Given the description of an element on the screen output the (x, y) to click on. 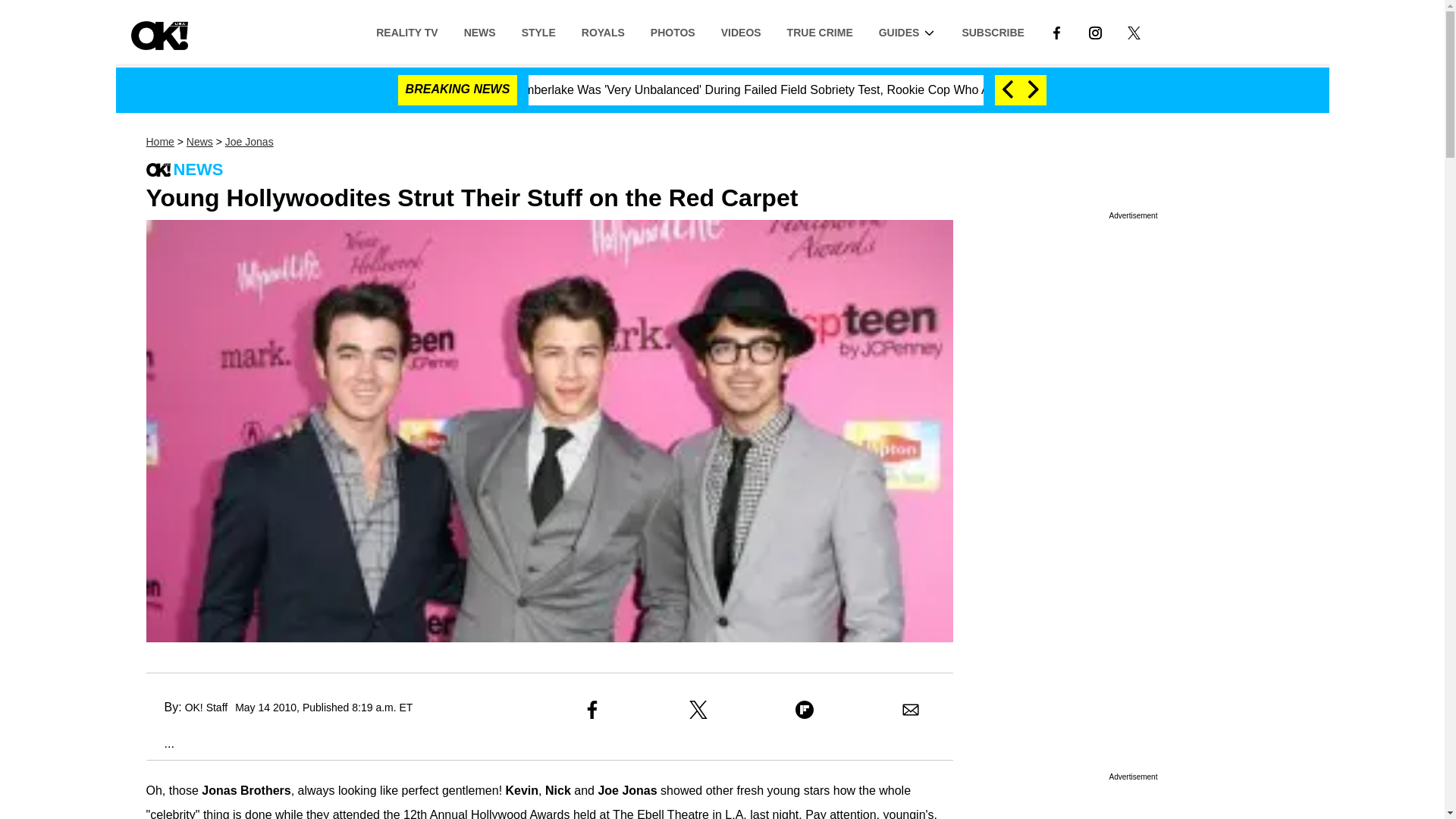
ROYALS (603, 31)
Share to X (697, 710)
Share to Facebook (590, 710)
LINK TO INSTAGRAM (1095, 31)
REALITY TV (405, 31)
Home (159, 141)
Link to Facebook (1055, 31)
VIDEOS (740, 31)
Share to Email (909, 710)
